Given the description of an element on the screen output the (x, y) to click on. 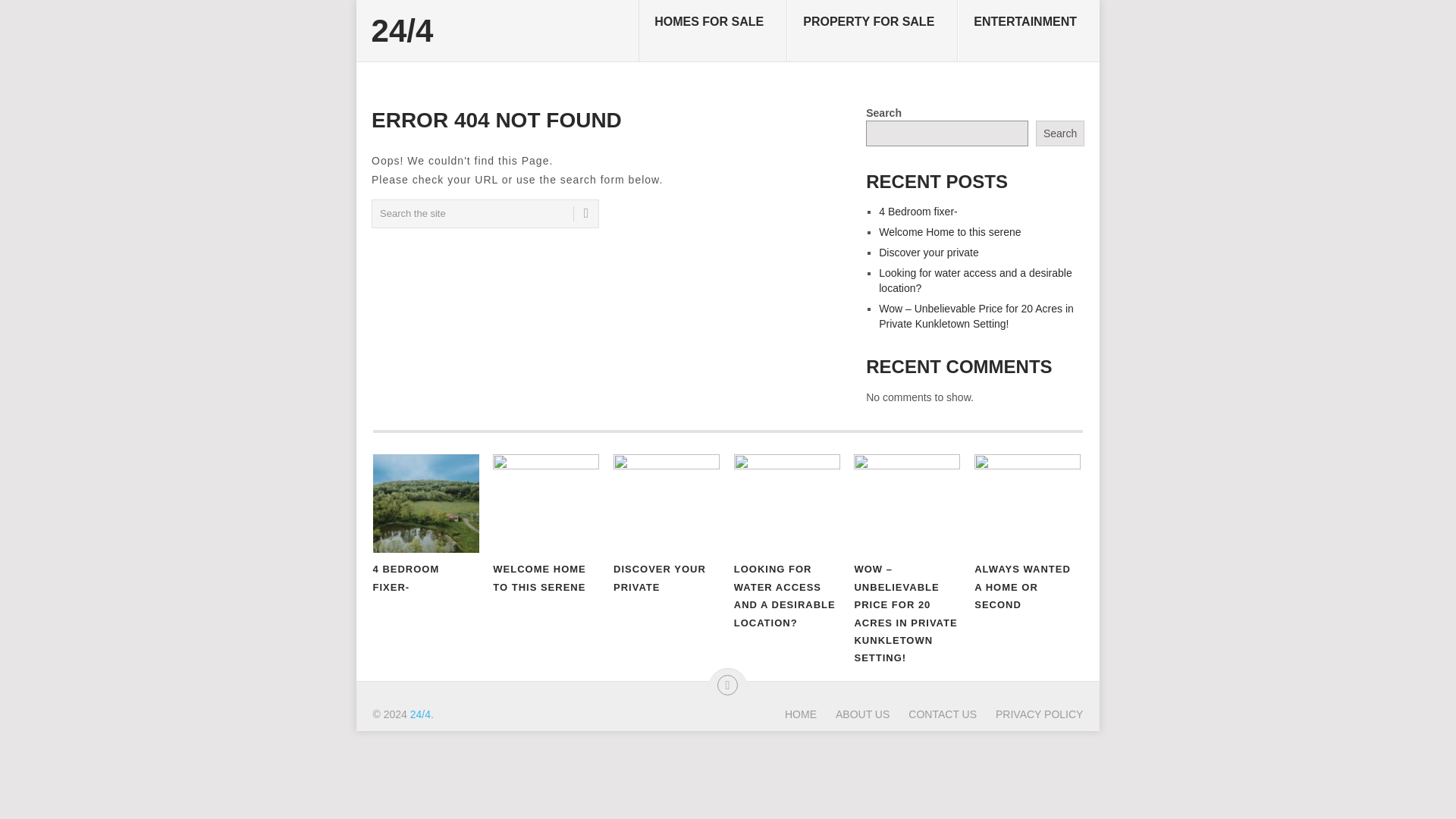
DISCOVER YOUR PRIVATE (665, 503)
Welcome Home to this serene (949, 232)
PROPERTY FOR SALE (872, 31)
PRIVACY POLICY (1029, 714)
CONTACT US (932, 714)
Looking for water access and a desirable location? (975, 280)
Welcome Home to this serene (545, 503)
LOOKING FOR WATER ACCESS AND A DESIRABLE LOCATION? (786, 503)
HOMES FOR SALE (713, 31)
ALWAYS WANTED A HOME OR SECOND (1027, 503)
Search the site (484, 213)
WELCOME HOME TO THIS SERENE (545, 503)
4 BEDROOM FIXER- (425, 503)
4 Bedroom fixer- (917, 211)
4 Bedroom fixer- (425, 503)
